Given the description of an element on the screen output the (x, y) to click on. 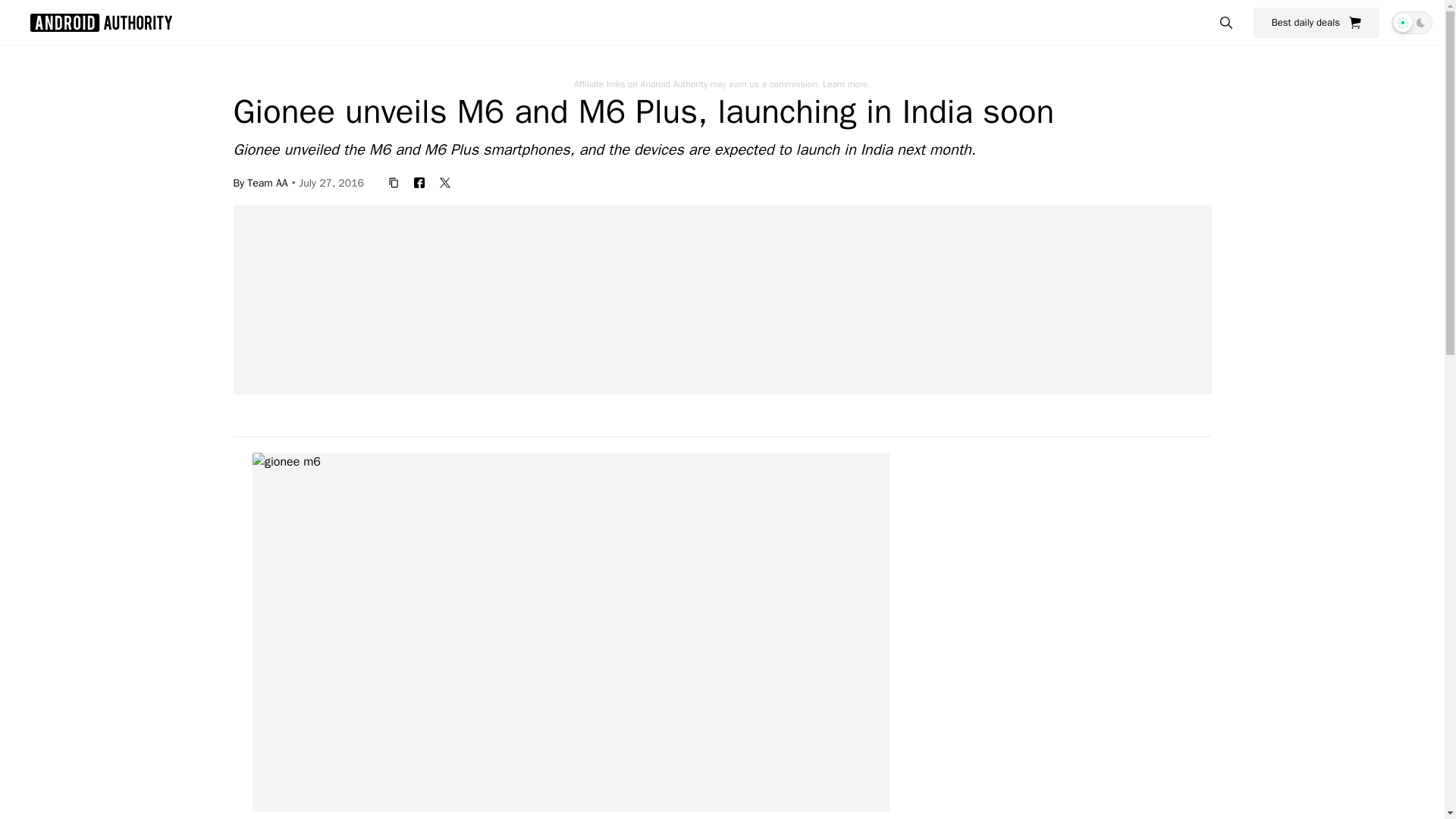
twitter (445, 182)
Best daily deals (1315, 22)
Team AA (266, 182)
facebook (419, 182)
Learn more. (846, 83)
